Given the description of an element on the screen output the (x, y) to click on. 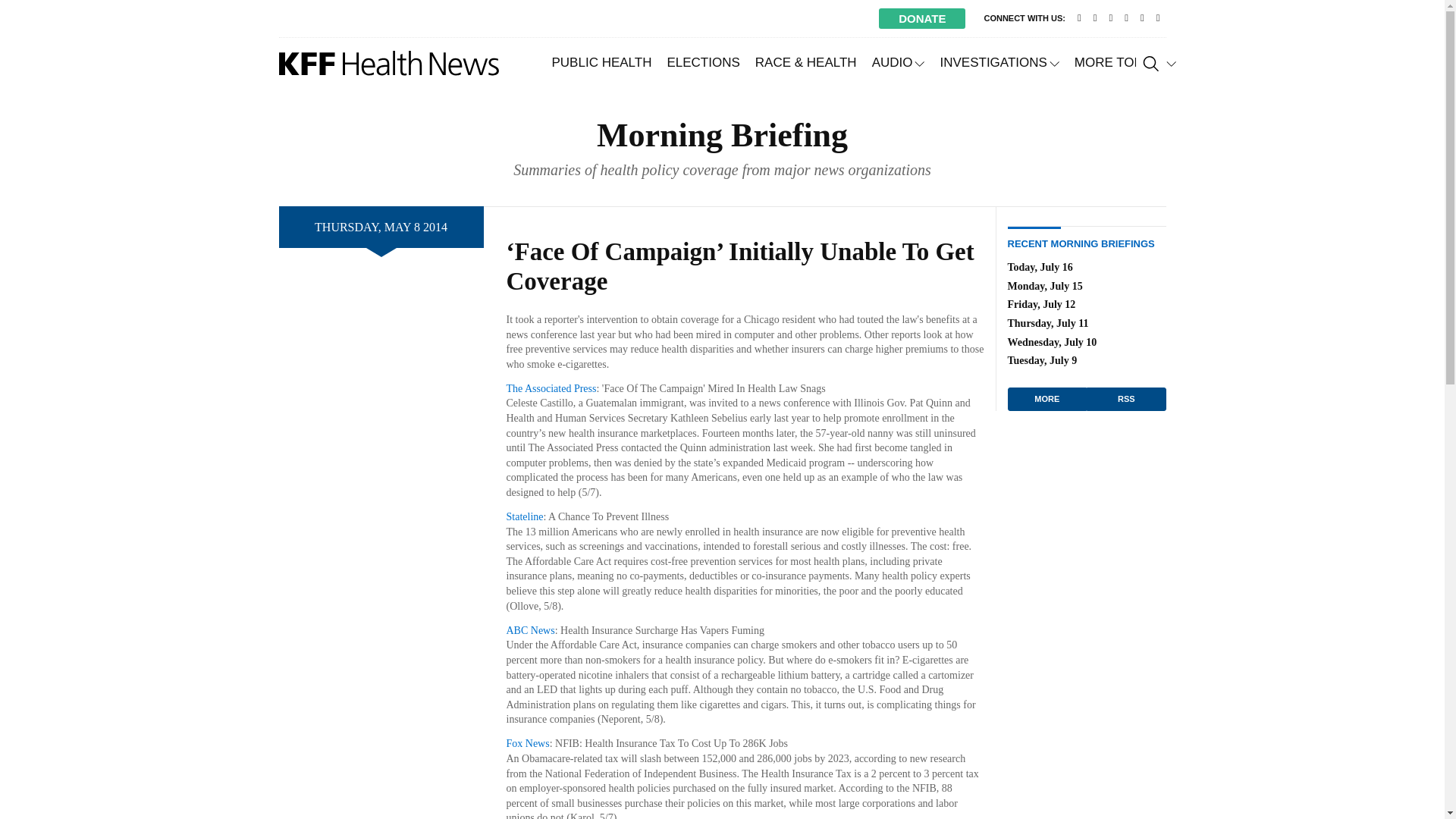
Twitter (1095, 18)
DONATE (922, 18)
PUBLIC HEALTH (601, 61)
Twitter (1095, 18)
Facebook (1110, 18)
Instagram (1142, 18)
LinkedIn (1126, 18)
ELECTIONS (702, 61)
Instagram (1142, 18)
RSS (1158, 18)
Contact (1079, 18)
AUDIO (898, 61)
KFF Health News (389, 63)
Contact (1079, 18)
